Given the description of an element on the screen output the (x, y) to click on. 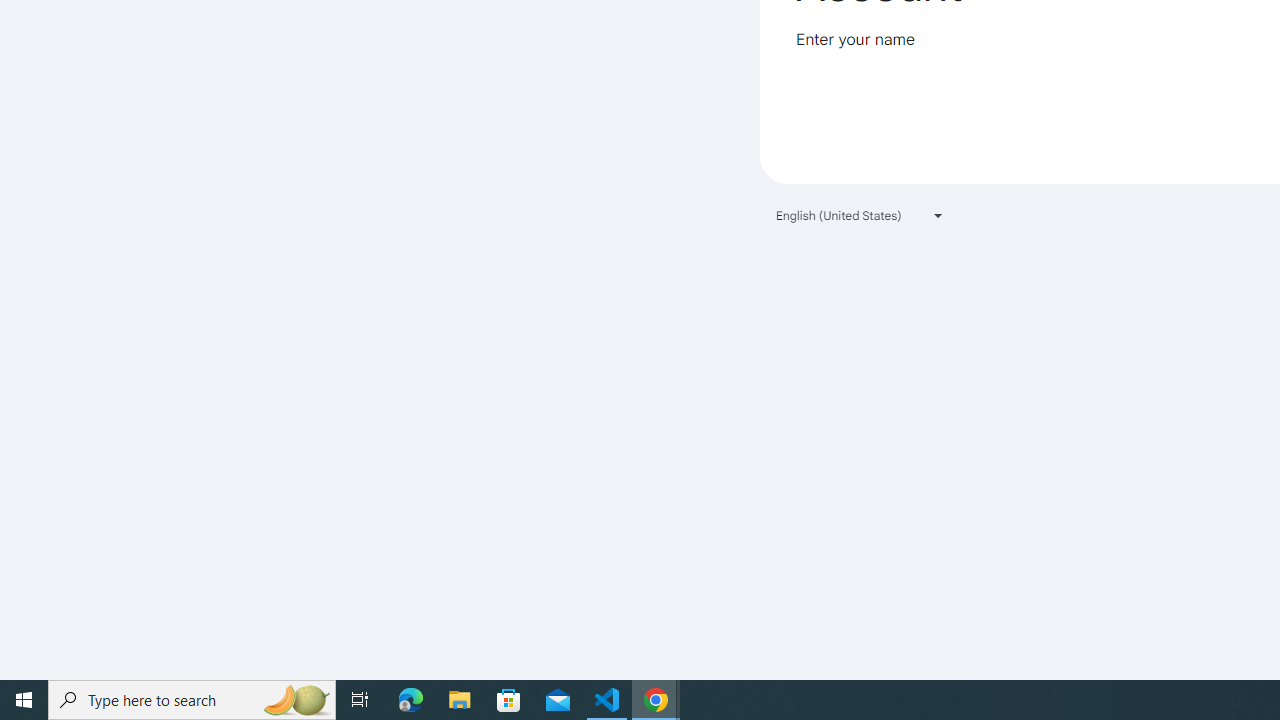
English (United States) (860, 214)
